Given the description of an element on the screen output the (x, y) to click on. 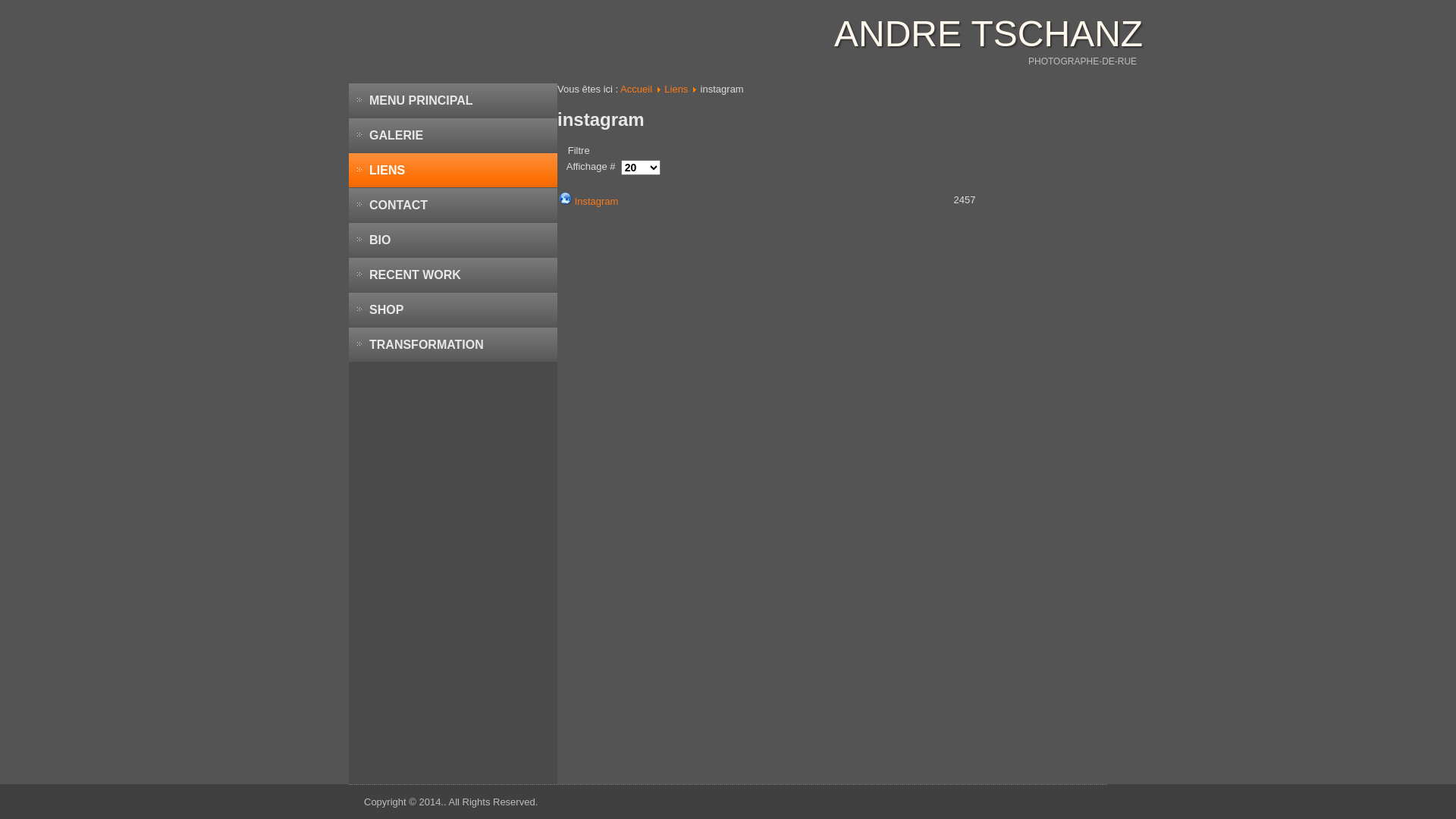
BIO Element type: text (452, 239)
ANDRE TSCHANZ Element type: text (988, 33)
Instagram Element type: text (596, 201)
TRANSFORMATION Element type: text (452, 344)
Accueil Element type: text (636, 88)
CONTACT Element type: text (452, 205)
Liens Element type: text (675, 88)
GALERIE Element type: text (452, 135)
RECENT WORK Element type: text (452, 274)
LIENS Element type: text (452, 170)
SHOP Element type: text (452, 309)
MENU PRINCIPAL Element type: text (452, 100)
